Given the description of an element on the screen output the (x, y) to click on. 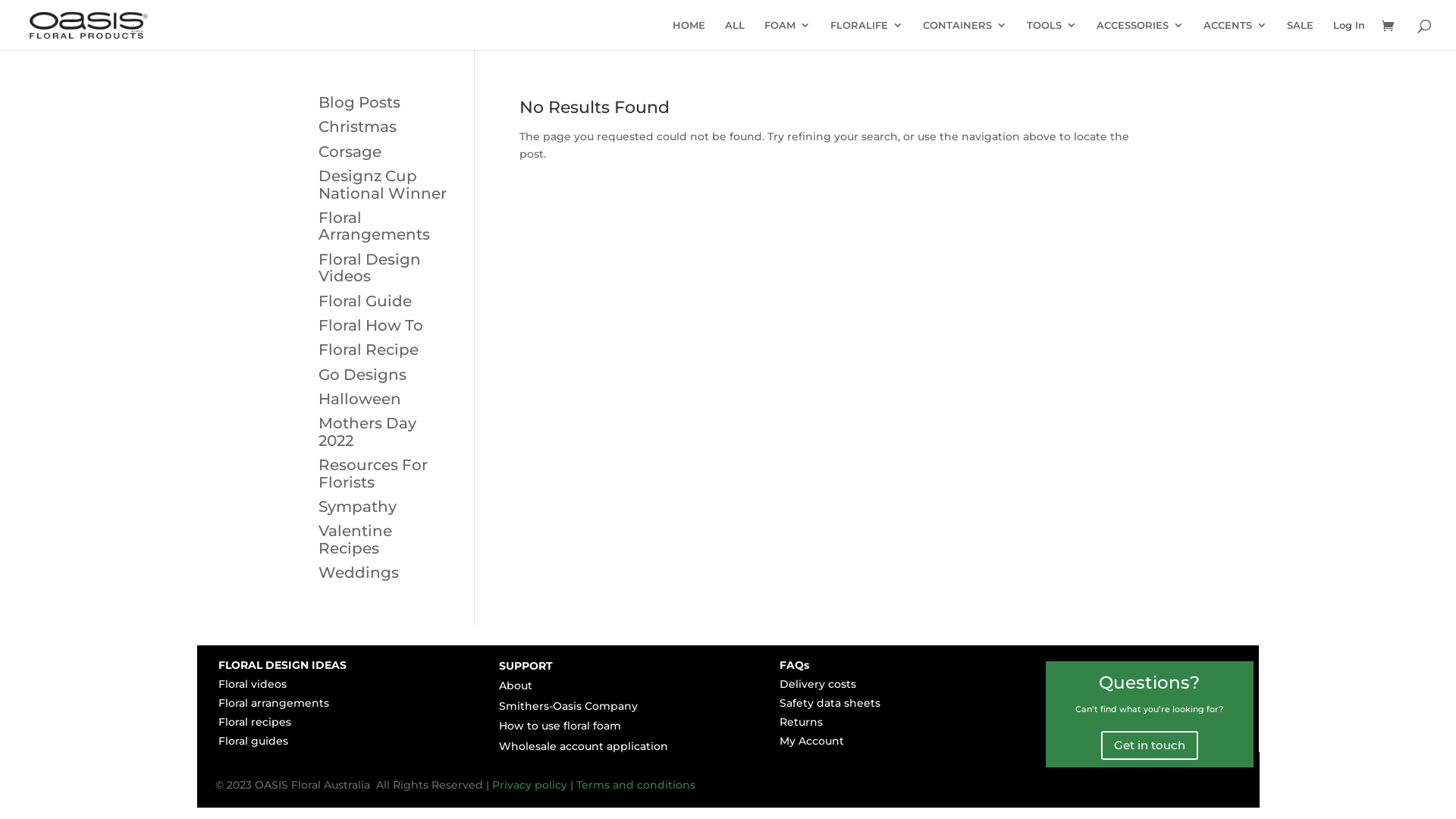
Floral Design Videos Element type: text (369, 267)
Valentine Recipes Element type: text (355, 538)
Log In Element type: text (1349, 34)
About Element type: text (515, 685)
ACCESSORIES Element type: text (1139, 34)
Floral Arrangements Element type: text (373, 225)
Christmas Element type: text (357, 126)
Sympathy Element type: text (357, 506)
Floral How To Element type: text (370, 325)
My Account Element type: text (811, 740)
ALL Element type: text (734, 34)
Get in touch Element type: text (1149, 745)
Floral Recipe Element type: text (368, 349)
Mothers Day 2022 Element type: text (367, 431)
HOME Element type: text (688, 34)
SALE Element type: text (1299, 34)
Floral Guide Element type: text (364, 300)
CONTAINERS Element type: text (964, 34)
Smithers-Oasis Company Element type: text (567, 705)
Resources For Florists Element type: text (372, 472)
FAQs Element type: text (794, 664)
Floral arrangements Element type: text (273, 702)
Terms and conditions Element type: text (635, 784)
Delivery costs Element type: text (817, 683)
Blog Posts Element type: text (359, 102)
Floral recipes Element type: text (254, 721)
FOAM Element type: text (787, 34)
How to use floral foam Element type: text (559, 725)
ACCENTS Element type: text (1235, 34)
Safety data sheets Element type: text (829, 702)
Floral videos Element type: text (252, 683)
Designz Cup National Winner Element type: text (382, 183)
Returns Element type: text (800, 721)
TOOLS Element type: text (1051, 34)
Floral guides Element type: text (253, 740)
Halloween Element type: text (359, 398)
Weddings Element type: text (358, 572)
Corsage Element type: text (349, 151)
Wholesale account application Element type: text (583, 746)
Go Designs Element type: text (362, 374)
FLORALIFE Element type: text (866, 34)
Privacy policy Element type: text (528, 784)
